Given the description of an element on the screen output the (x, y) to click on. 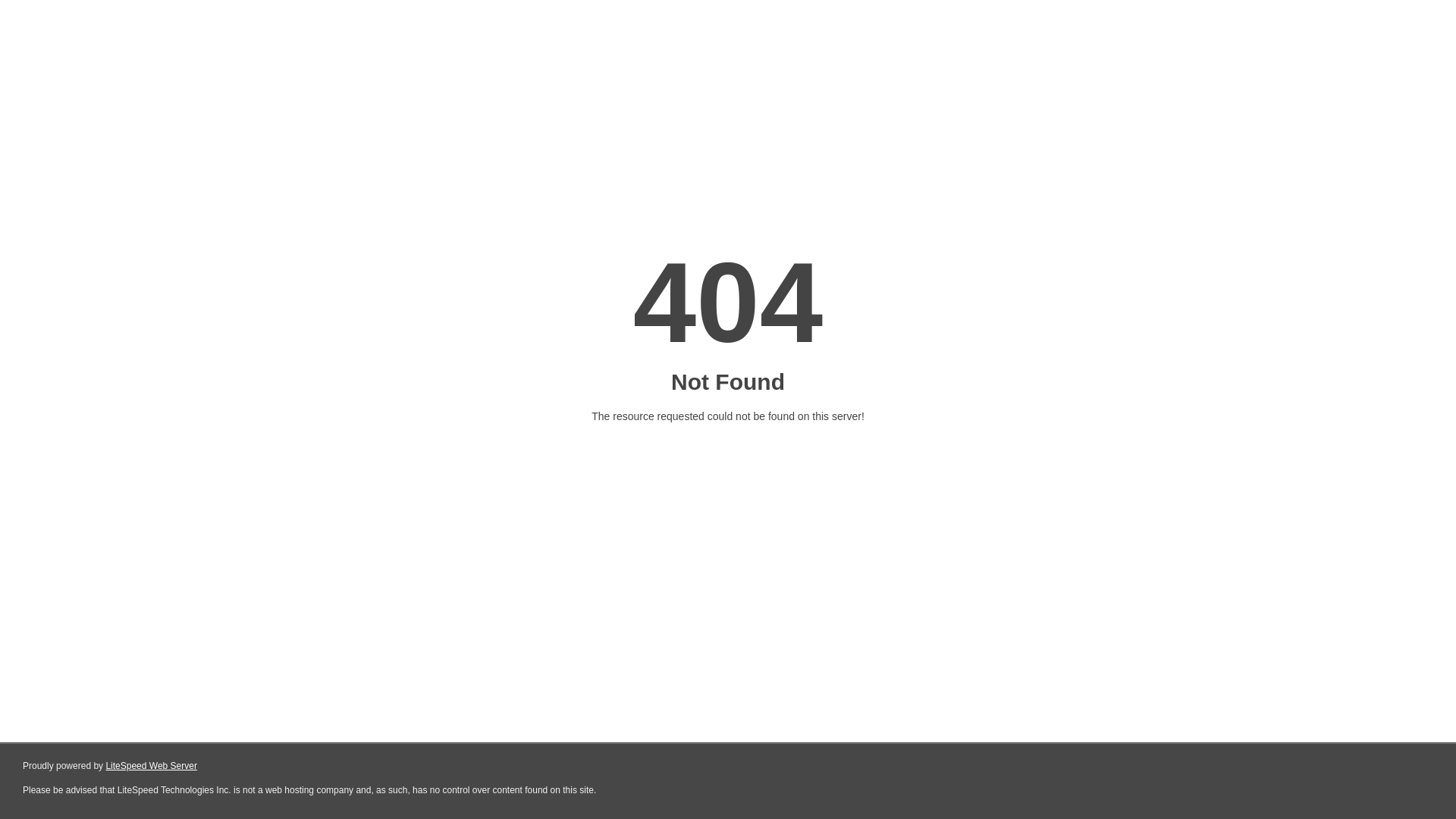
LiteSpeed Web Server Element type: text (151, 765)
